Given the description of an element on the screen output the (x, y) to click on. 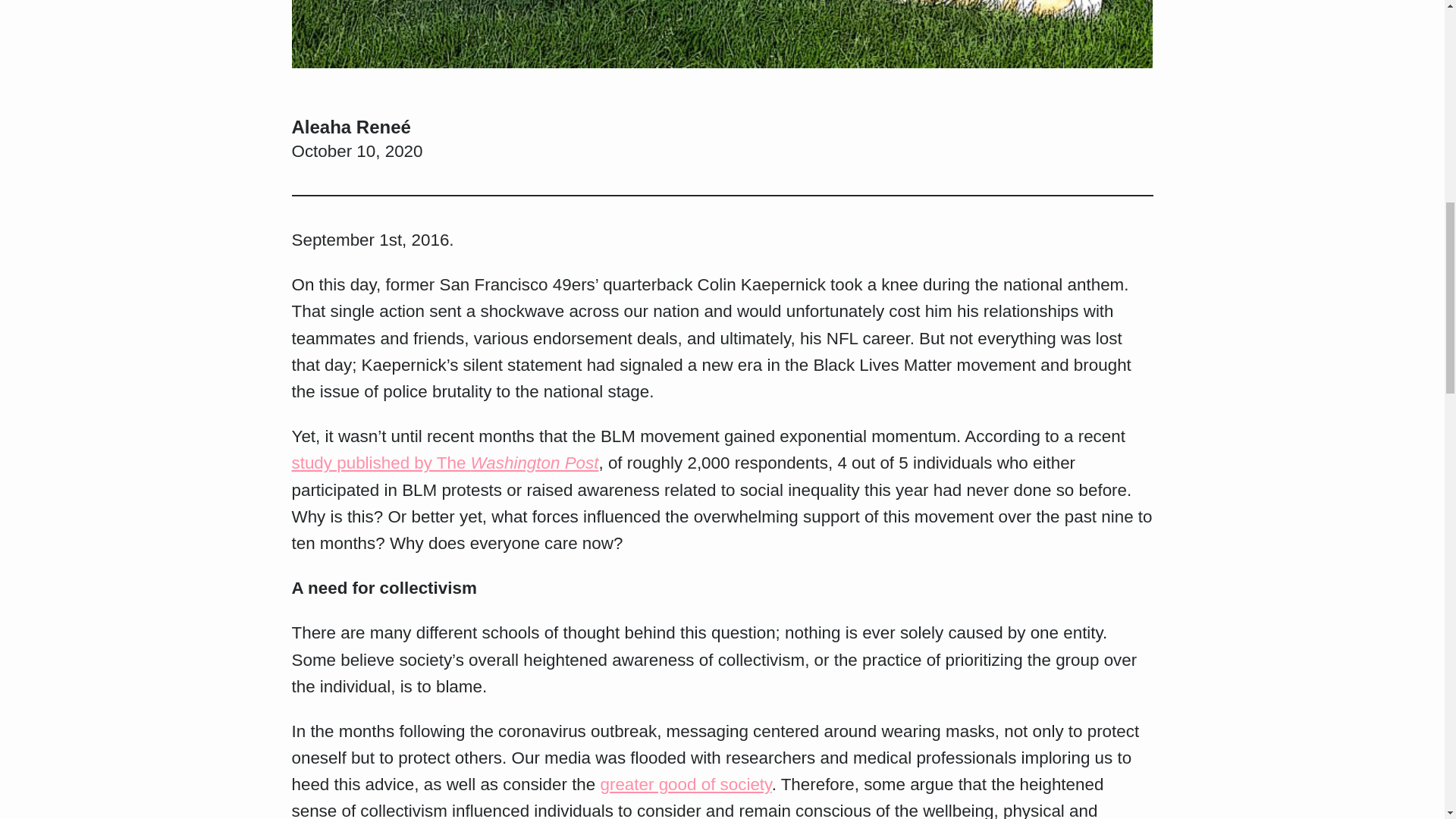
study published by The Washington Post (444, 462)
greater good of society (685, 783)
